Given the description of an element on the screen output the (x, y) to click on. 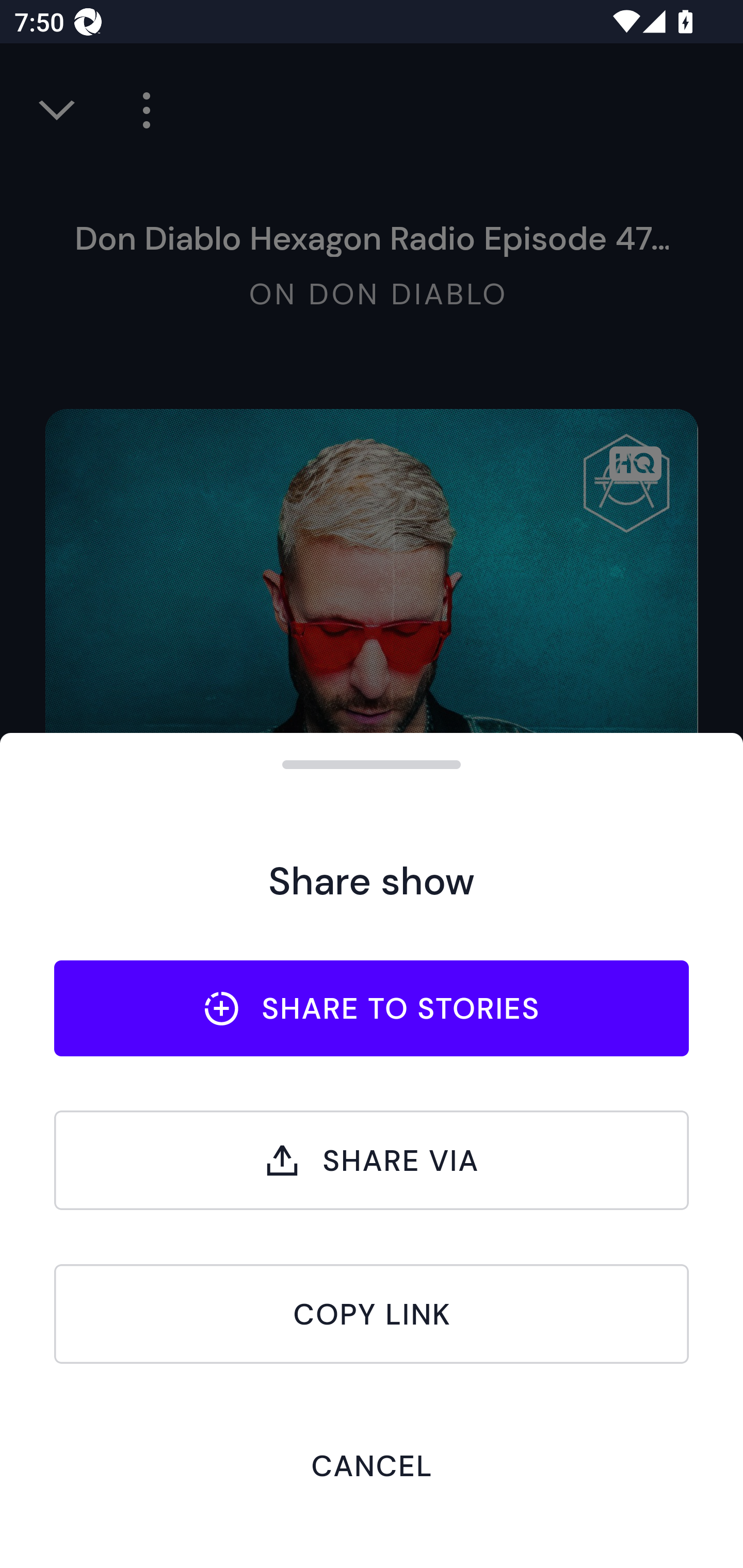
Share to stories SHARE TO STORIES (371, 1007)
Share VIA SHARE VIA (371, 1160)
Copy link COPY LINK (371, 1313)
Cancel CANCEL (371, 1465)
